Given the description of an element on the screen output the (x, y) to click on. 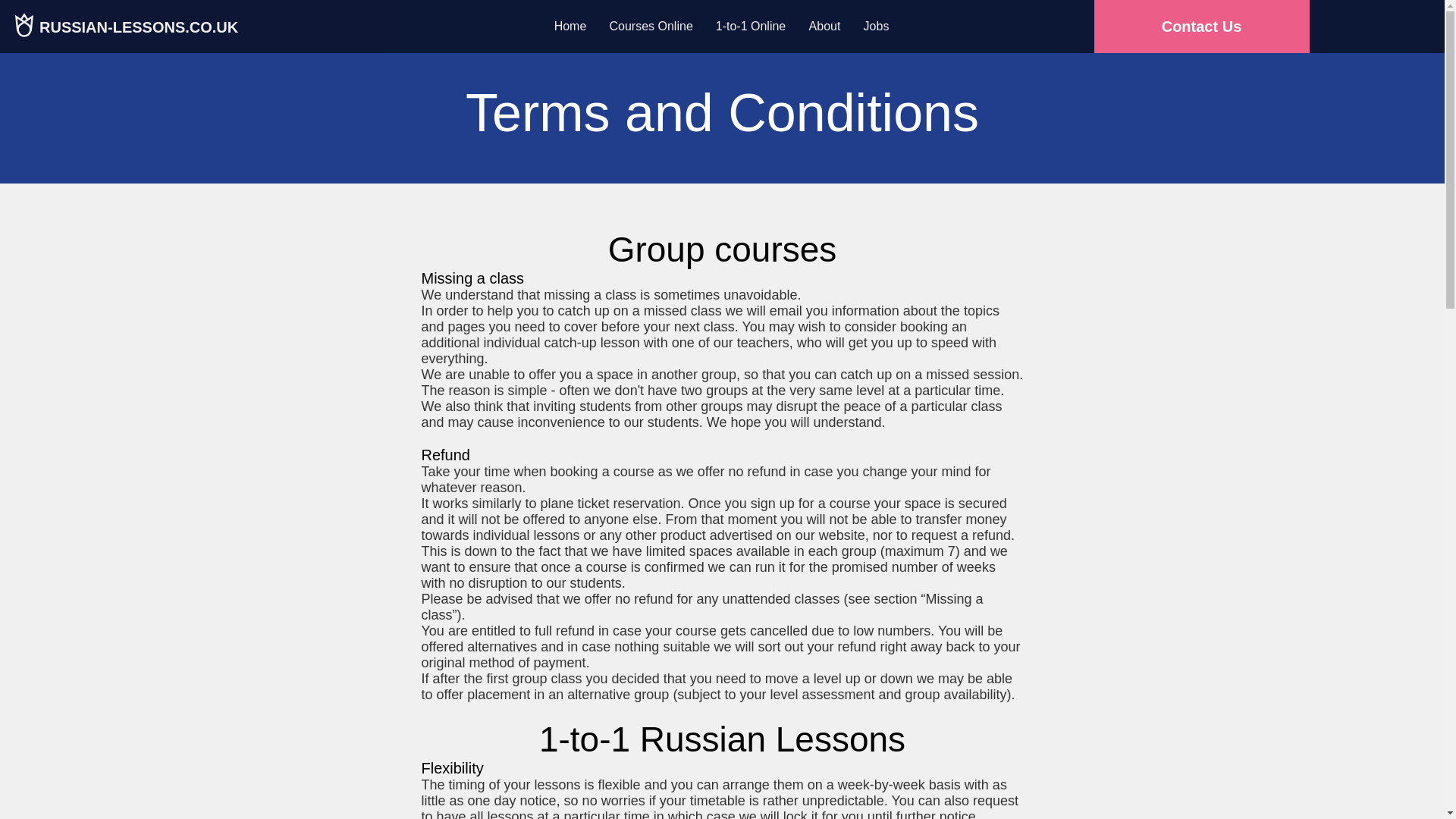
Contact Us (1200, 26)
Jobs (876, 26)
Home (570, 26)
About (824, 26)
RUSSIAN-LESSONS.CO.UK (138, 26)
1-to-1 Online (749, 26)
